Given the description of an element on the screen output the (x, y) to click on. 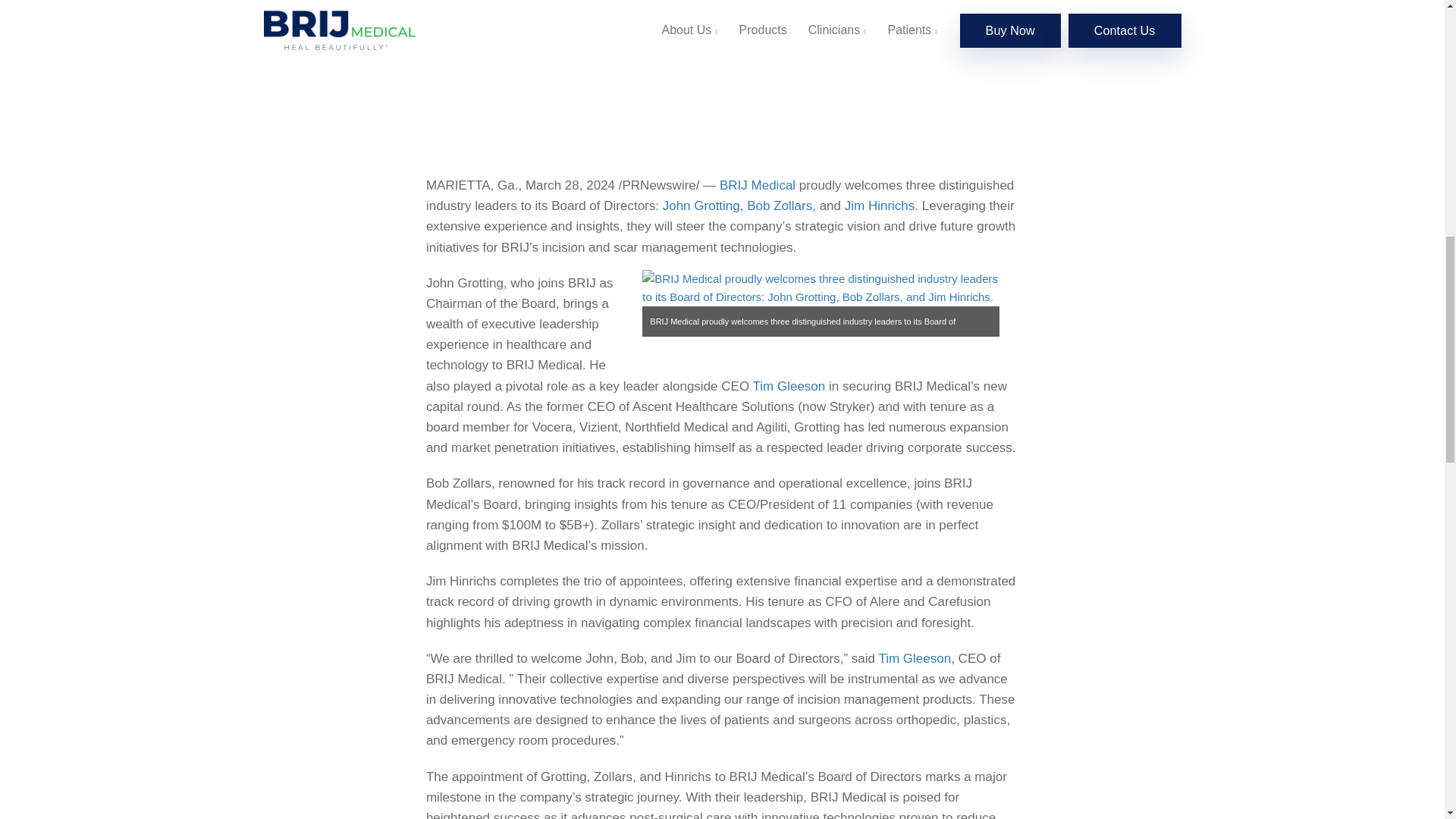
John Grotting (700, 205)
BRIJ Medical (756, 185)
Tim Gleeson (913, 658)
Jim Hinrichs (879, 205)
Bob Zollars (779, 205)
Tim Gleeson (788, 386)
